Given the description of an element on the screen output the (x, y) to click on. 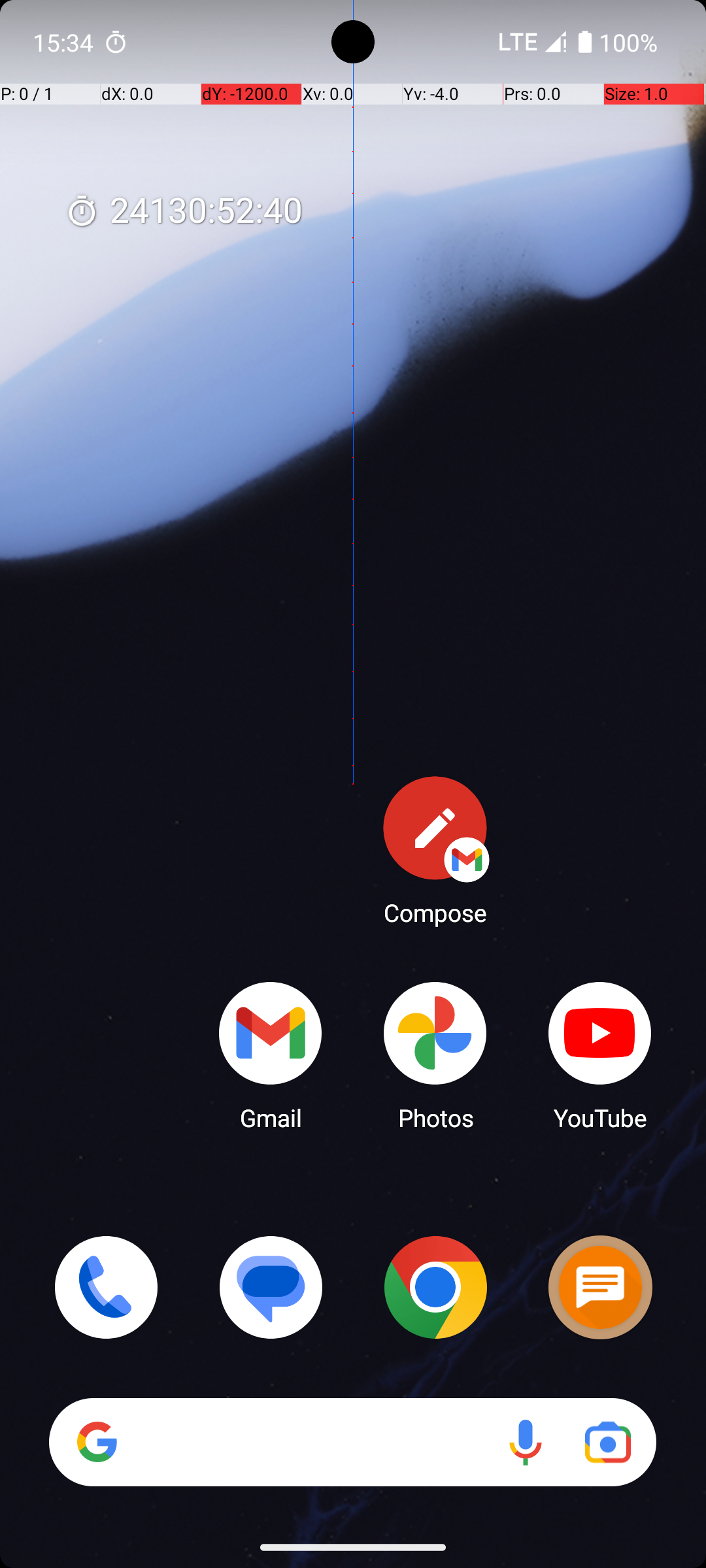
24130:52:40 Element type: android.widget.TextView (183, 210)
Compose Element type: android.widget.TextView (435, 849)
